Given the description of an element on the screen output the (x, y) to click on. 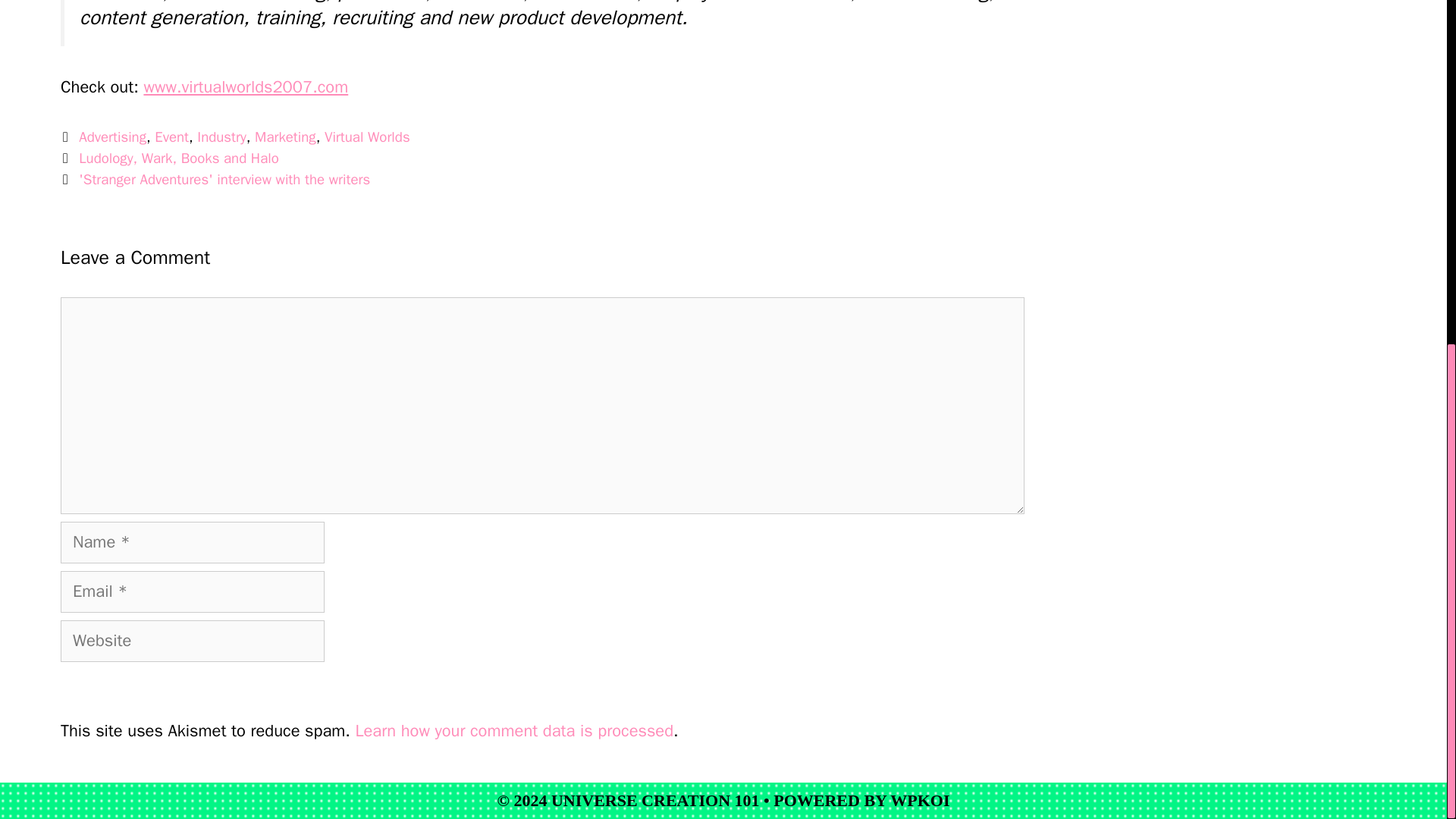
Post Comment (130, 690)
Next (215, 179)
Industry (221, 136)
Ludology, Wark, Books and Halo (178, 158)
Previous (170, 158)
'Stranger Adventures' interview with the writers (223, 179)
Marketing (284, 136)
Virtual Worlds (367, 136)
Event (171, 136)
WPKOI (919, 800)
